Given the description of an element on the screen output the (x, y) to click on. 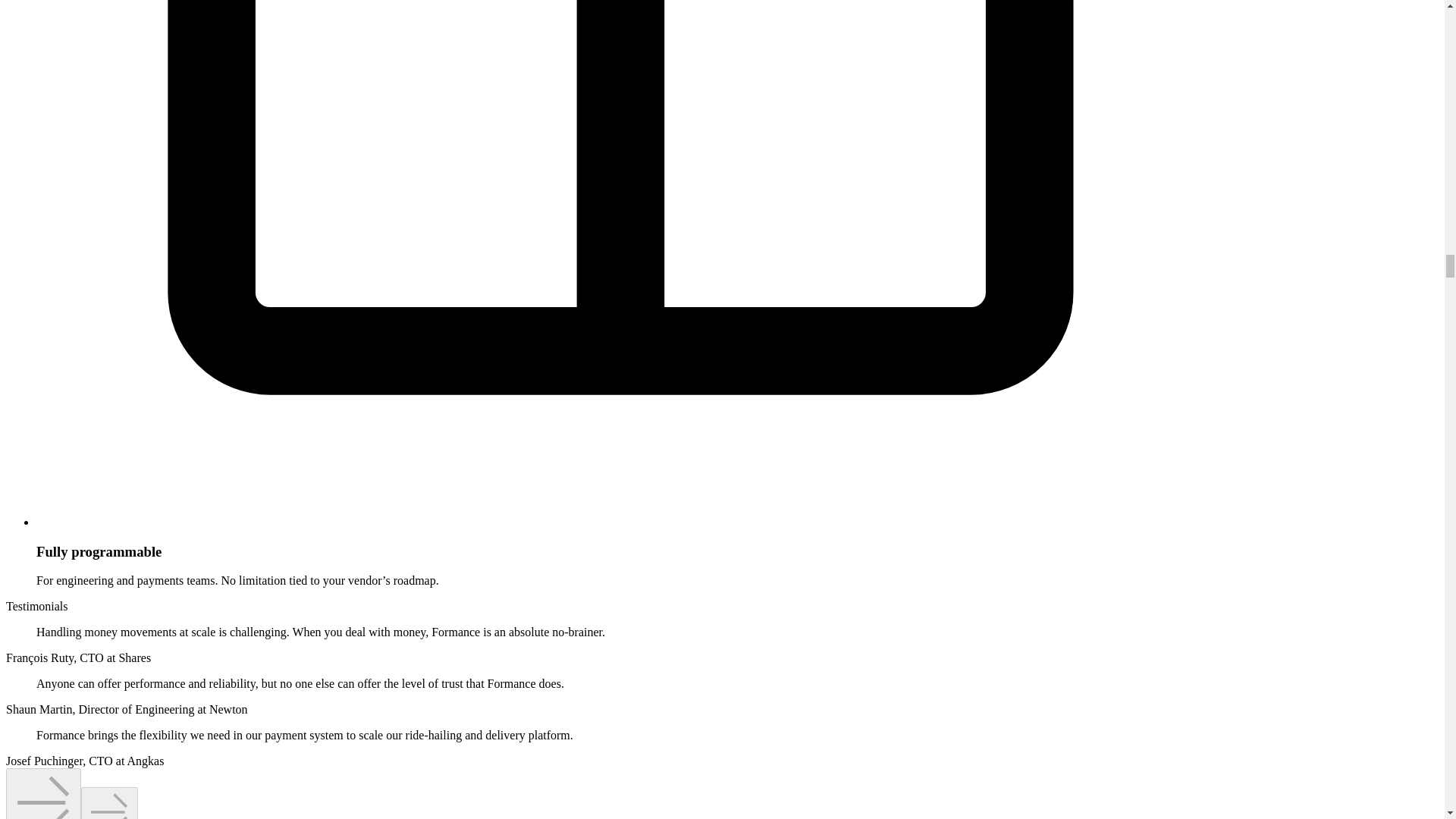
Next slide (109, 803)
Previous slide (43, 793)
